Given the description of an element on the screen output the (x, y) to click on. 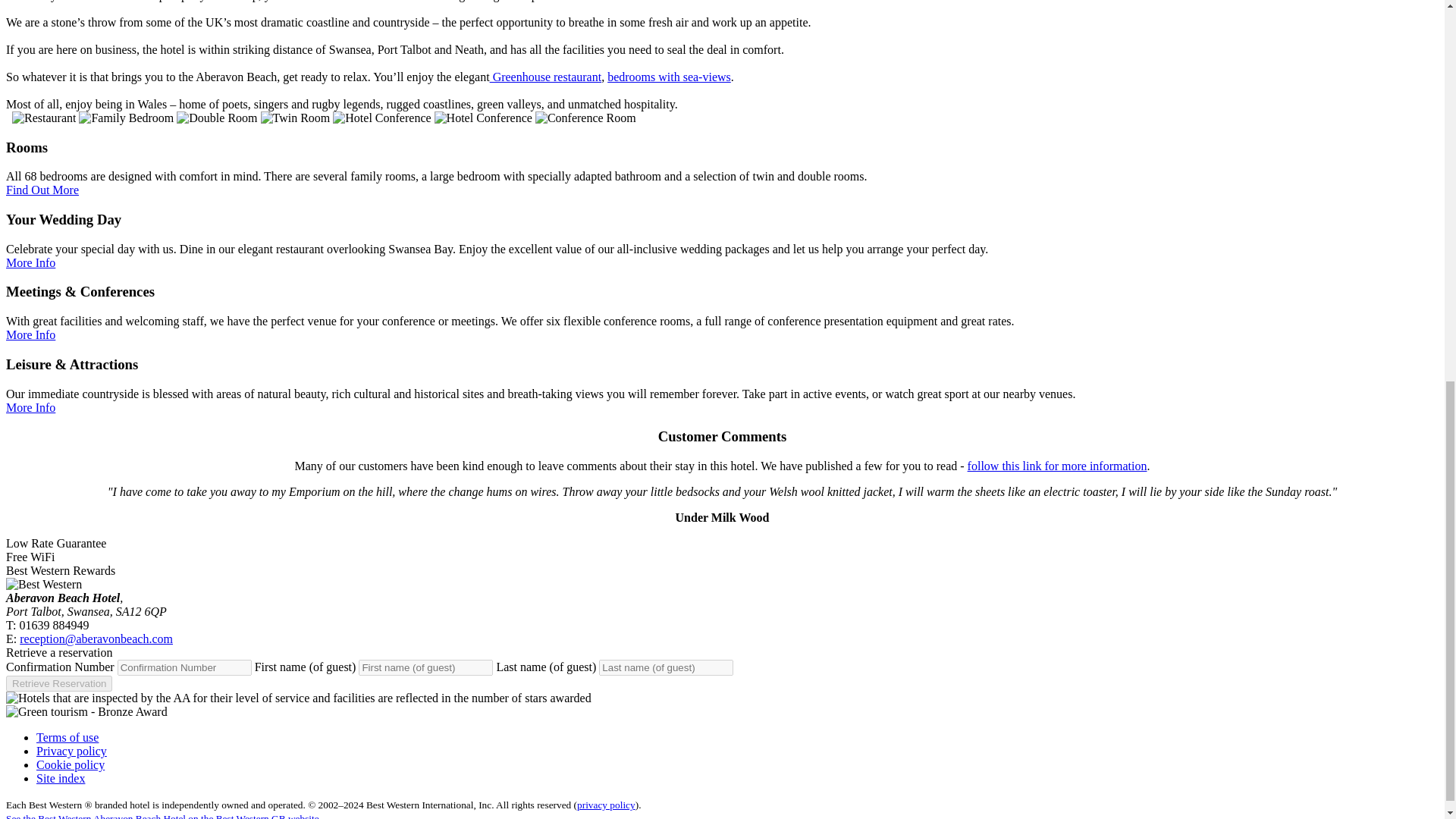
Best Western (43, 584)
Retrieve Reservation (58, 683)
Hotel Conference (482, 118)
Family Bedroom (125, 118)
Double Room (216, 118)
Conference Room (585, 118)
Twin Room (295, 118)
Hotel Conference (381, 118)
Green tourism - Bronze Award (86, 712)
Restaurant (43, 118)
